Given the description of an element on the screen output the (x, y) to click on. 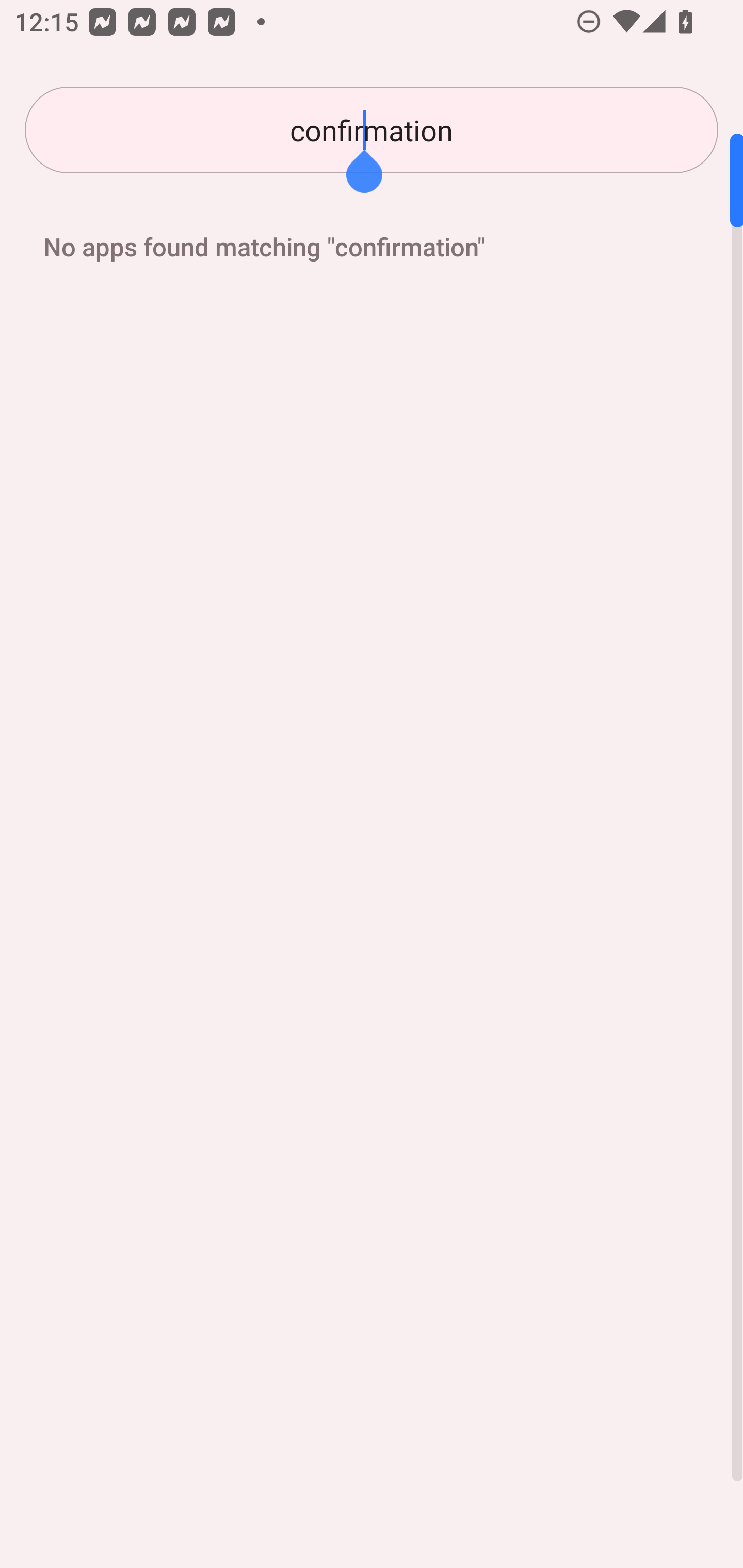
confirmation (371, 130)
